Given the description of an element on the screen output the (x, y) to click on. 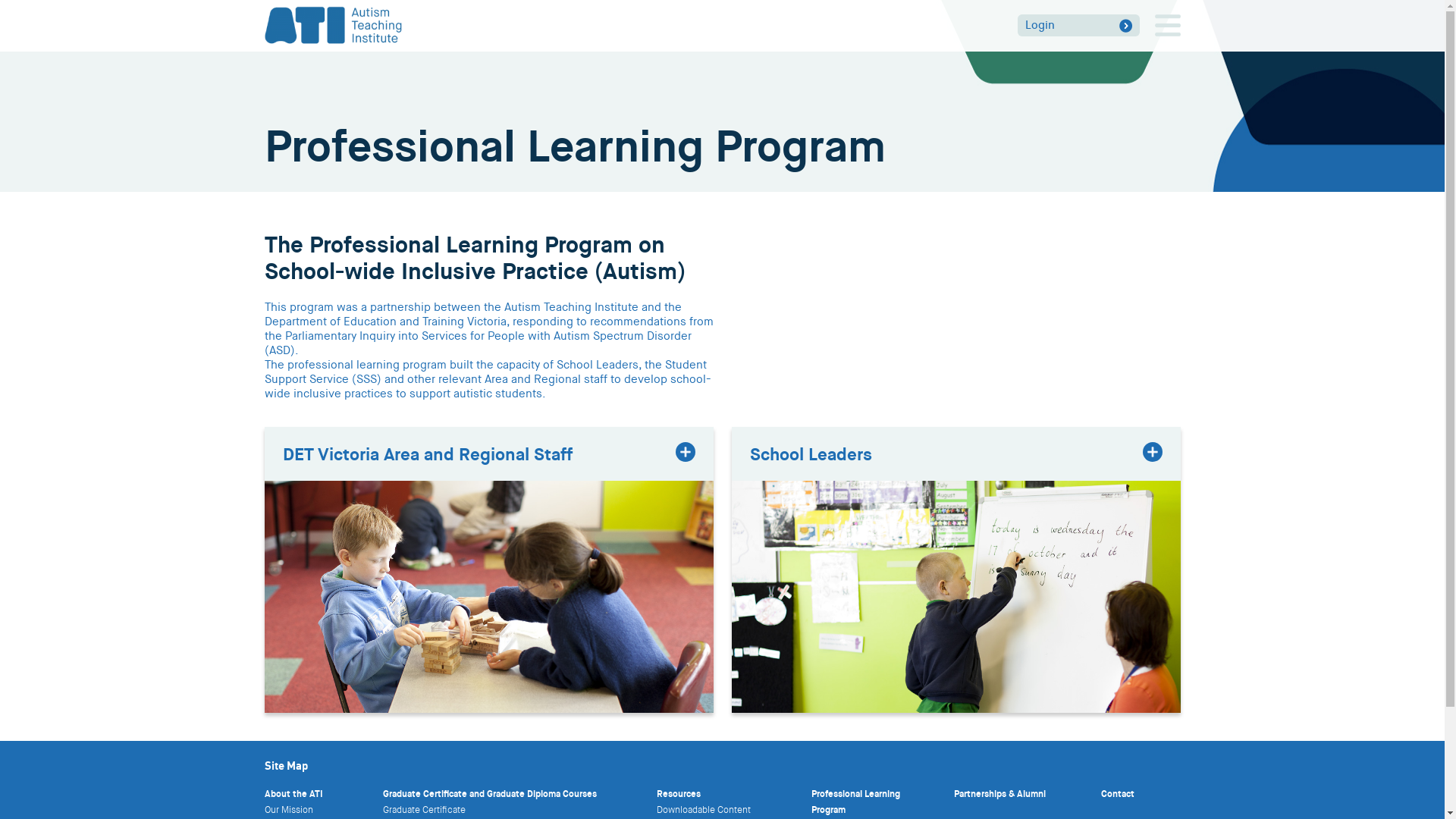
Graduate Certificate and Graduate Diploma Courses Element type: text (489, 793)
Partnerships & Alumni Element type: text (999, 793)
Downloadable Content Element type: text (703, 809)
Contact Element type: text (1117, 793)
Login Element type: text (1078, 25)
Professional Learning
Program Element type: text (855, 801)
Graduate Certificate Element type: text (423, 809)
DET Victoria Area and Regional Staff Element type: text (487, 453)
About the ATI Element type: text (292, 793)
Our Mission Element type: text (287, 809)
Resources Element type: text (678, 793)
School Leaders Element type: text (955, 453)
Autism Teaching Institute Element type: hover (332, 23)
